Given the description of an element on the screen output the (x, y) to click on. 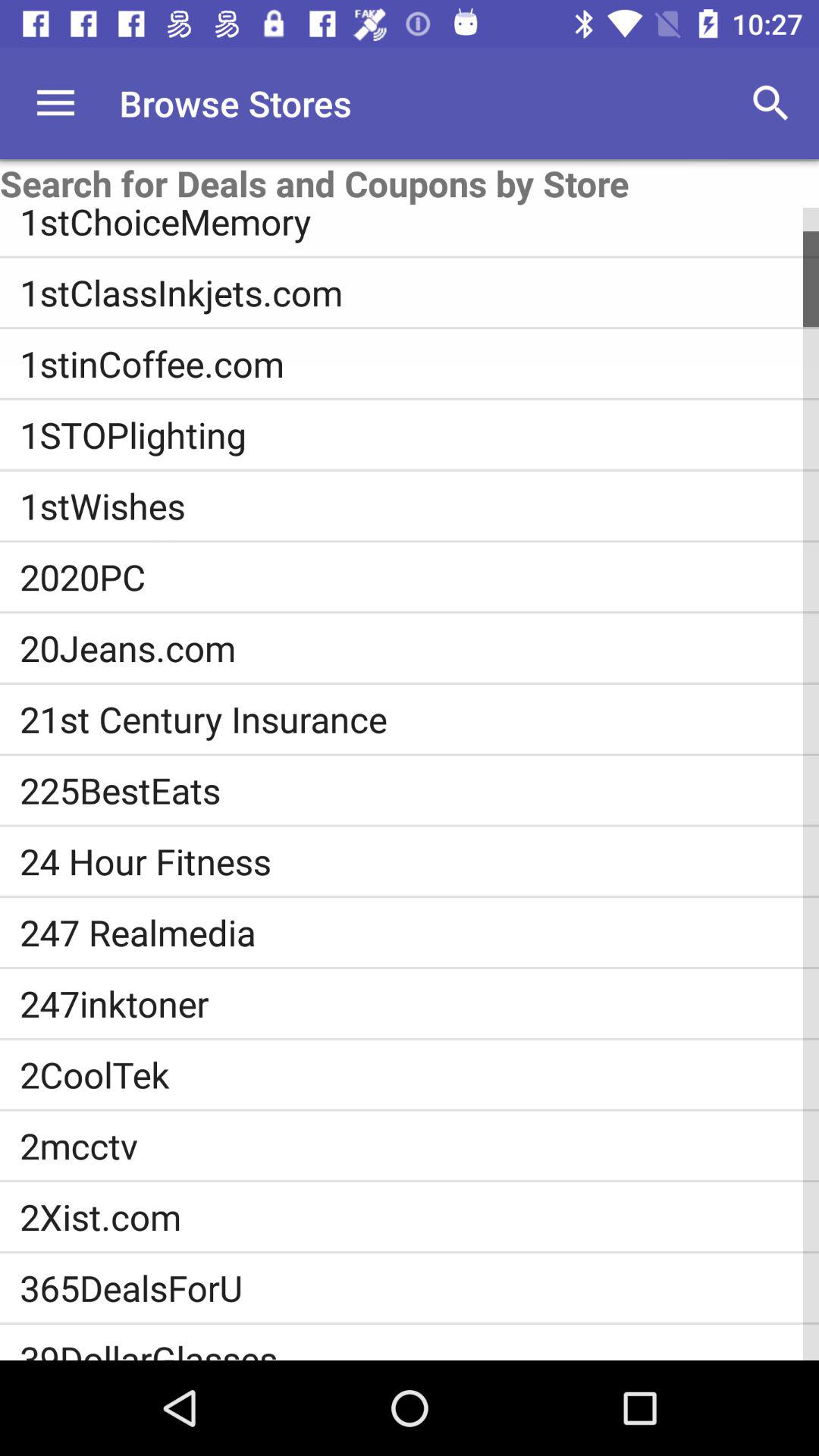
click the icon next to the browse stores (55, 103)
